Given the description of an element on the screen output the (x, y) to click on. 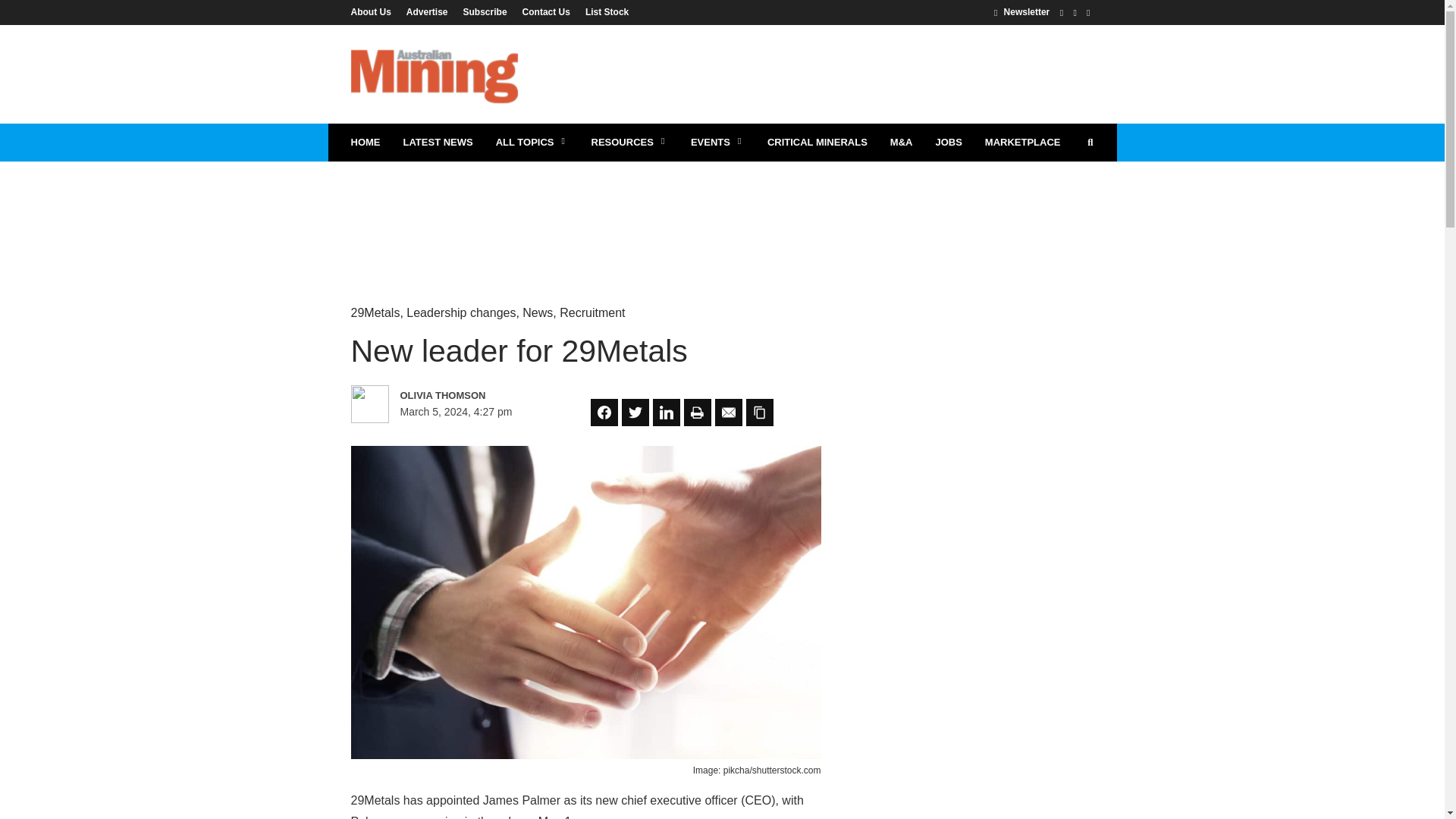
HOME (365, 142)
Share on Copy Link (759, 411)
Subscribe (485, 11)
3rd party ad content (721, 210)
3rd party ad content (817, 74)
About Us (373, 11)
List Stock (603, 11)
Newsletter (1021, 11)
LATEST NEWS (437, 142)
Advertise (426, 11)
Share on Email (728, 411)
ALL TOPICS (531, 142)
Share on Print (697, 411)
Share on Twitter (635, 411)
Contact Us (546, 11)
